Given the description of an element on the screen output the (x, y) to click on. 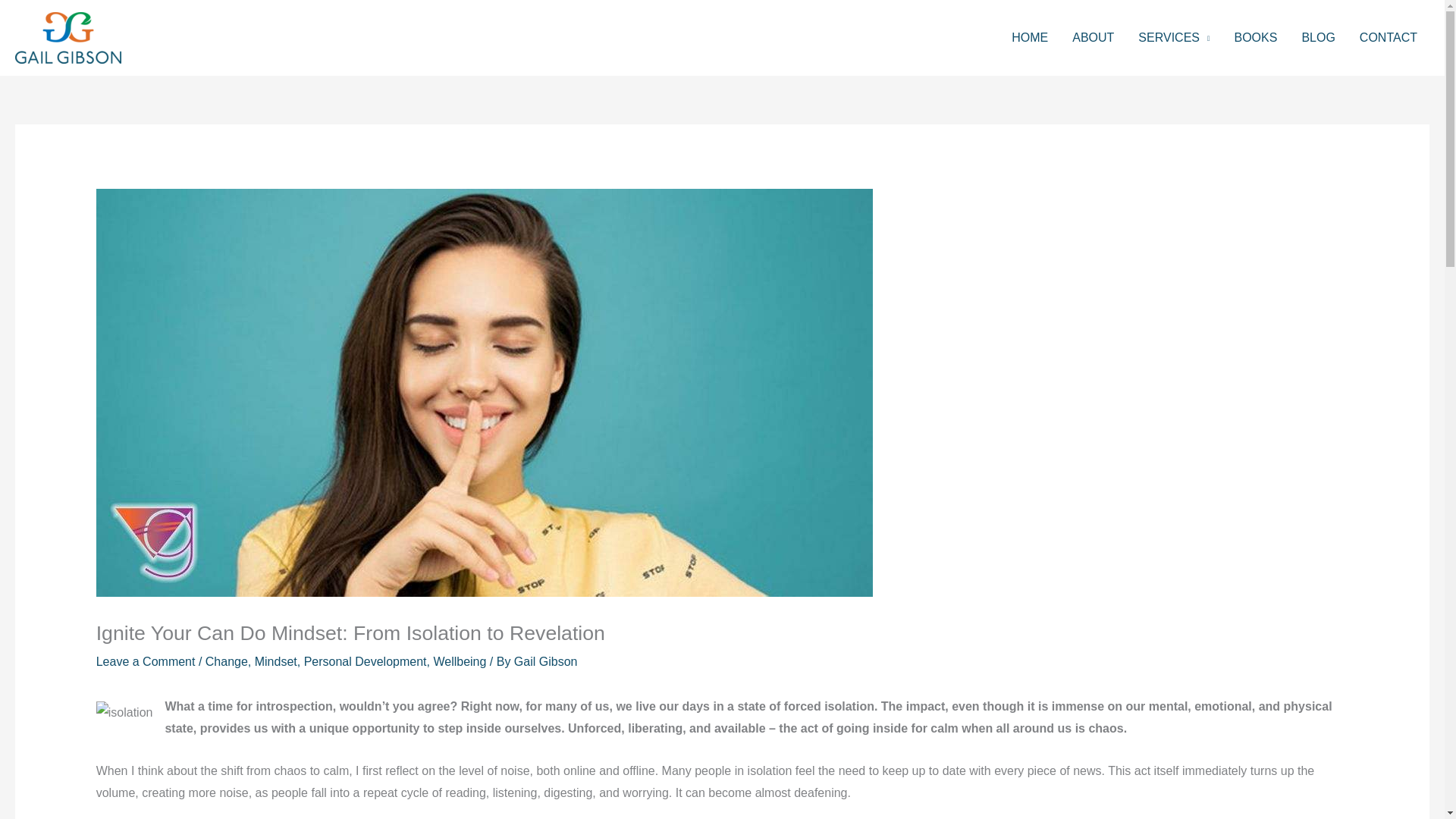
Gail Gibson (545, 661)
Personal Development (365, 661)
BOOKS (1254, 37)
Mindset (275, 661)
BLOG (1317, 37)
CONTACT (1388, 37)
SERVICES (1173, 37)
Wellbeing (459, 661)
ABOUT (1092, 37)
Change (226, 661)
